Given the description of an element on the screen output the (x, y) to click on. 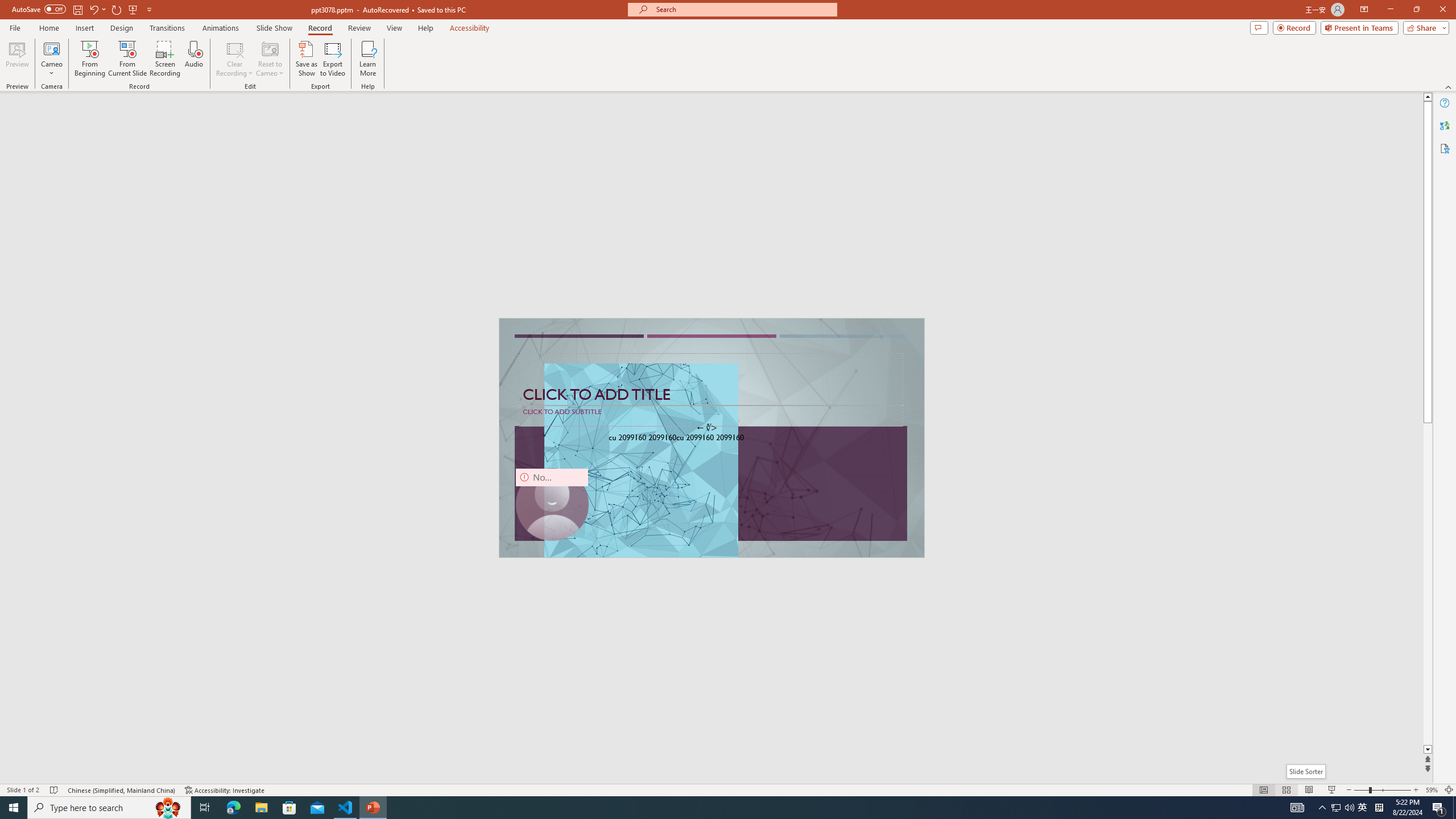
Timeline Section (188, 635)
Class: menubar compact overflow-menu-only (76, 183)
Manage (76, 712)
Manage (76, 734)
Wang Yian (760, 382)
Earth - Wikipedia (23, 481)
